Given the description of an element on the screen output the (x, y) to click on. 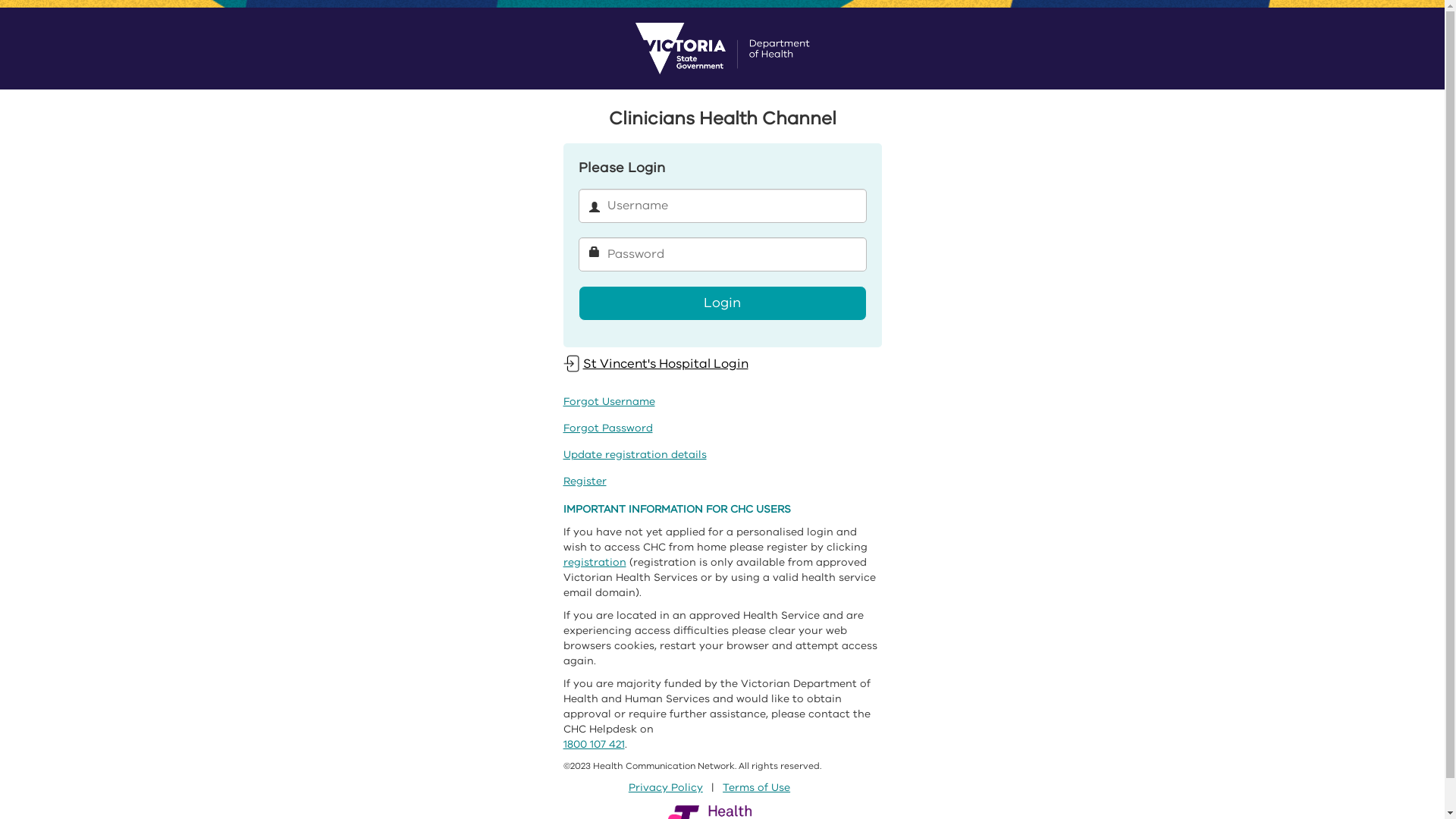
Login Element type: text (721, 302)
St Vincent's Hospital Login Element type: text (654, 363)
Forgot Password Element type: text (607, 427)
Update registration details Element type: text (634, 454)
Privacy Policy Element type: text (665, 787)
Terms of Use Element type: text (756, 787)
Forgot Username Element type: text (608, 401)
registration Element type: text (593, 562)
1800 107 421 Element type: text (593, 744)
Register Element type: text (583, 480)
